Given the description of an element on the screen output the (x, y) to click on. 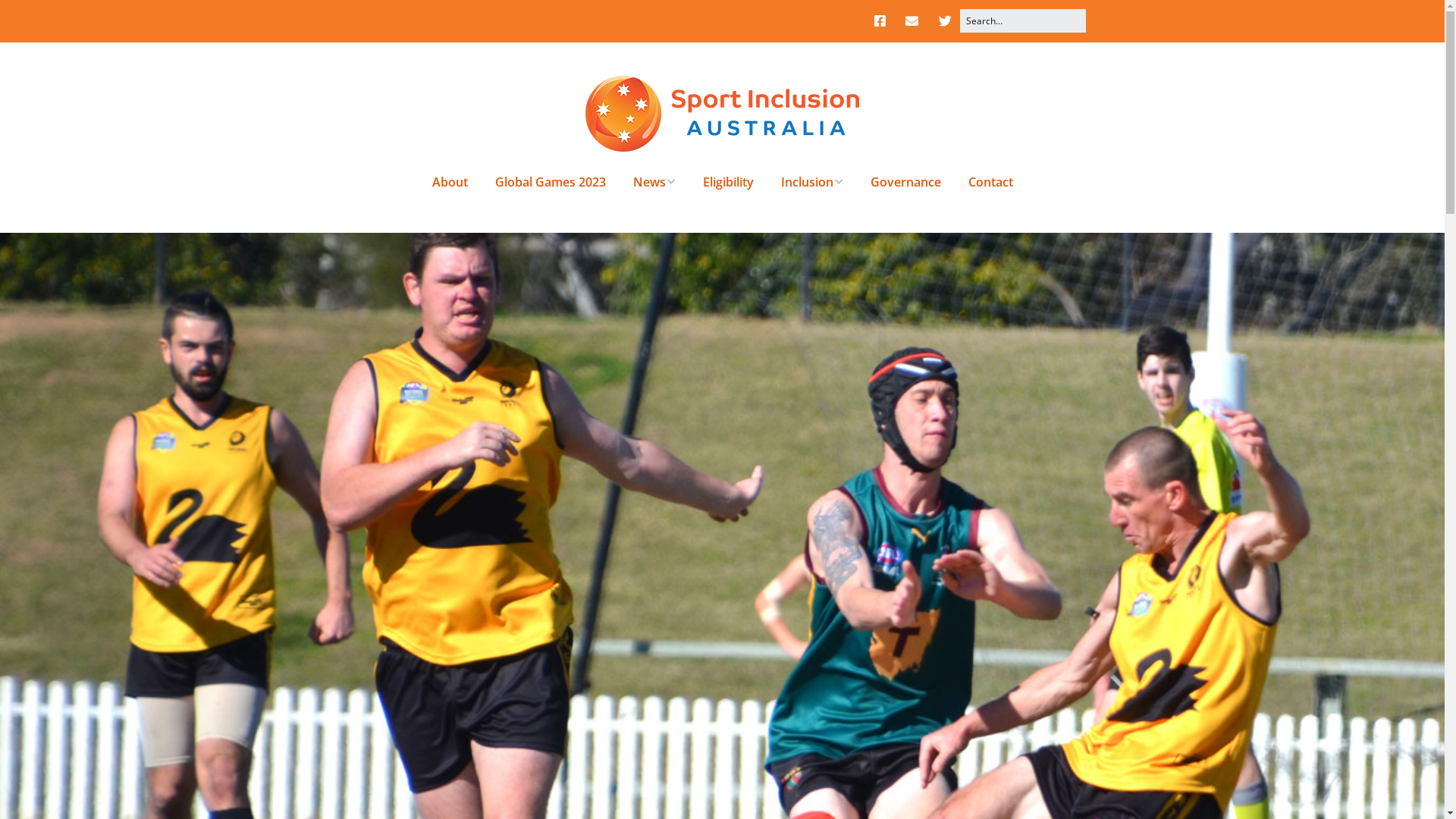
About Element type: text (450, 181)
Inclusion Element type: text (811, 181)
Contact Element type: text (989, 181)
Global Games 2023 Element type: text (549, 181)
Governance Element type: text (905, 181)
Eligibility Element type: text (727, 181)
Search Element type: text (29, 16)
Press Enter to submit your search Element type: hover (1021, 20)
News Element type: text (653, 181)
